Given the description of an element on the screen output the (x, y) to click on. 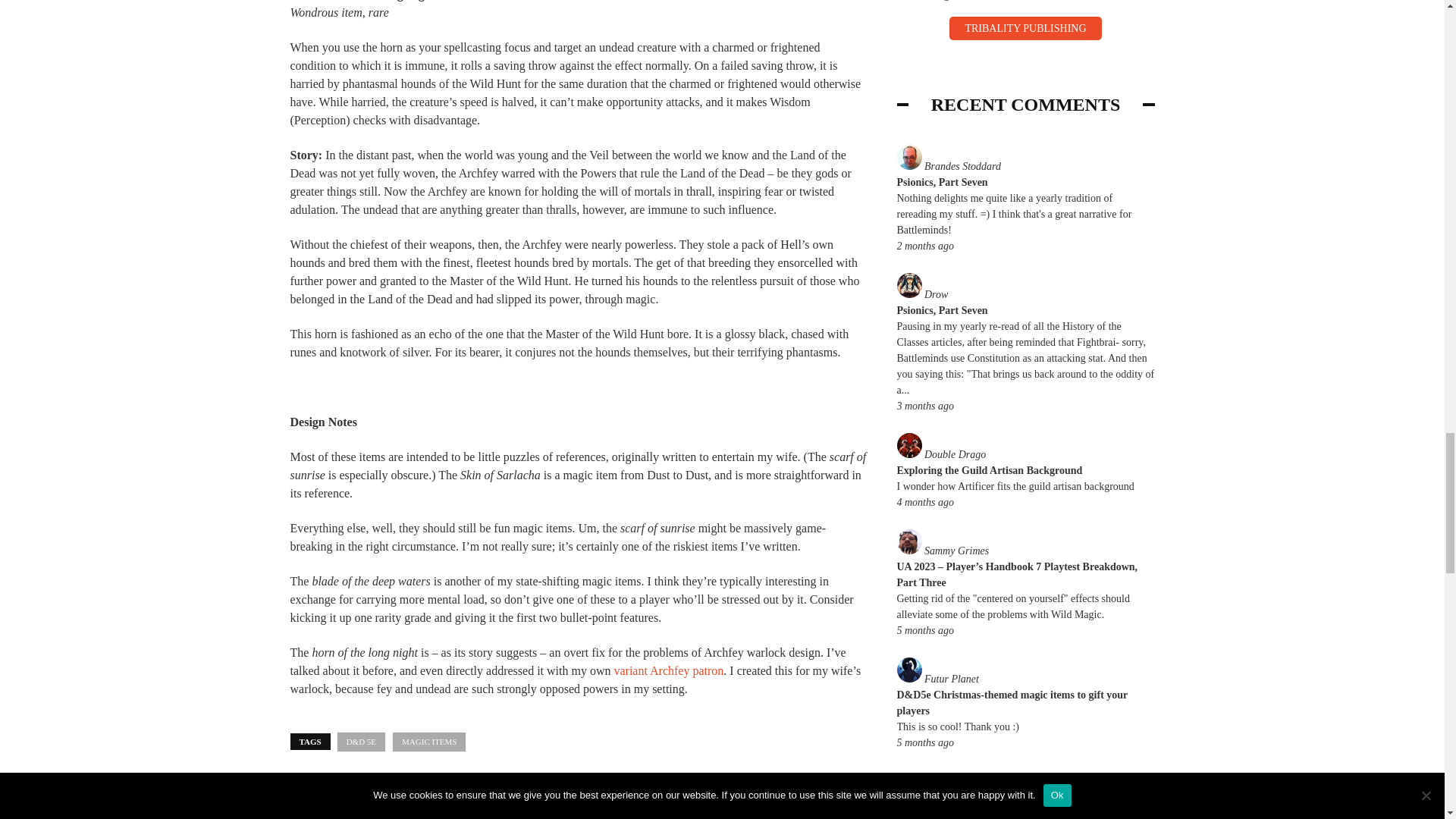
View all posts tagged magic items (428, 742)
